Given the description of an element on the screen output the (x, y) to click on. 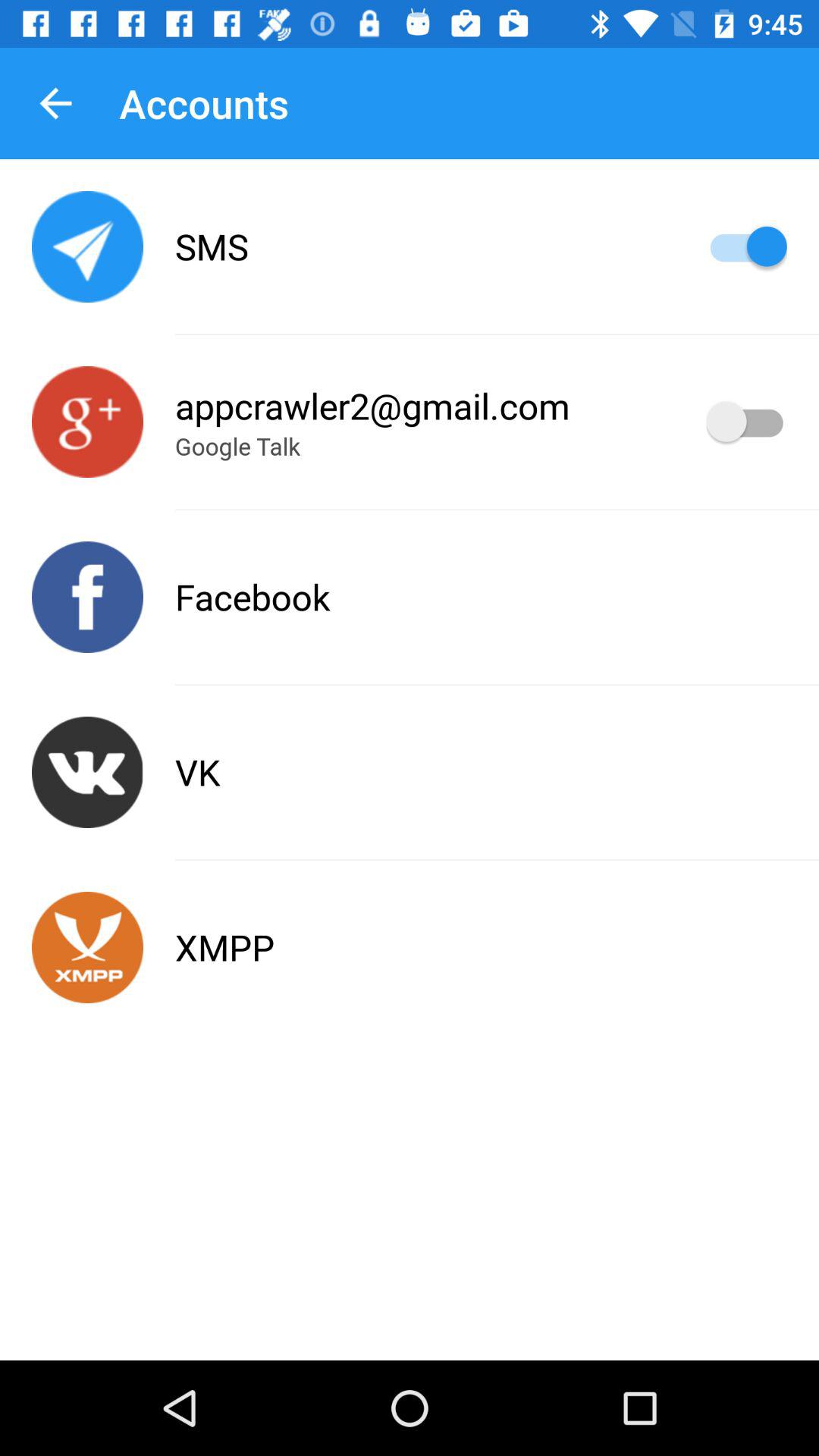
turn off item next to the accounts (55, 103)
